Given the description of an element on the screen output the (x, y) to click on. 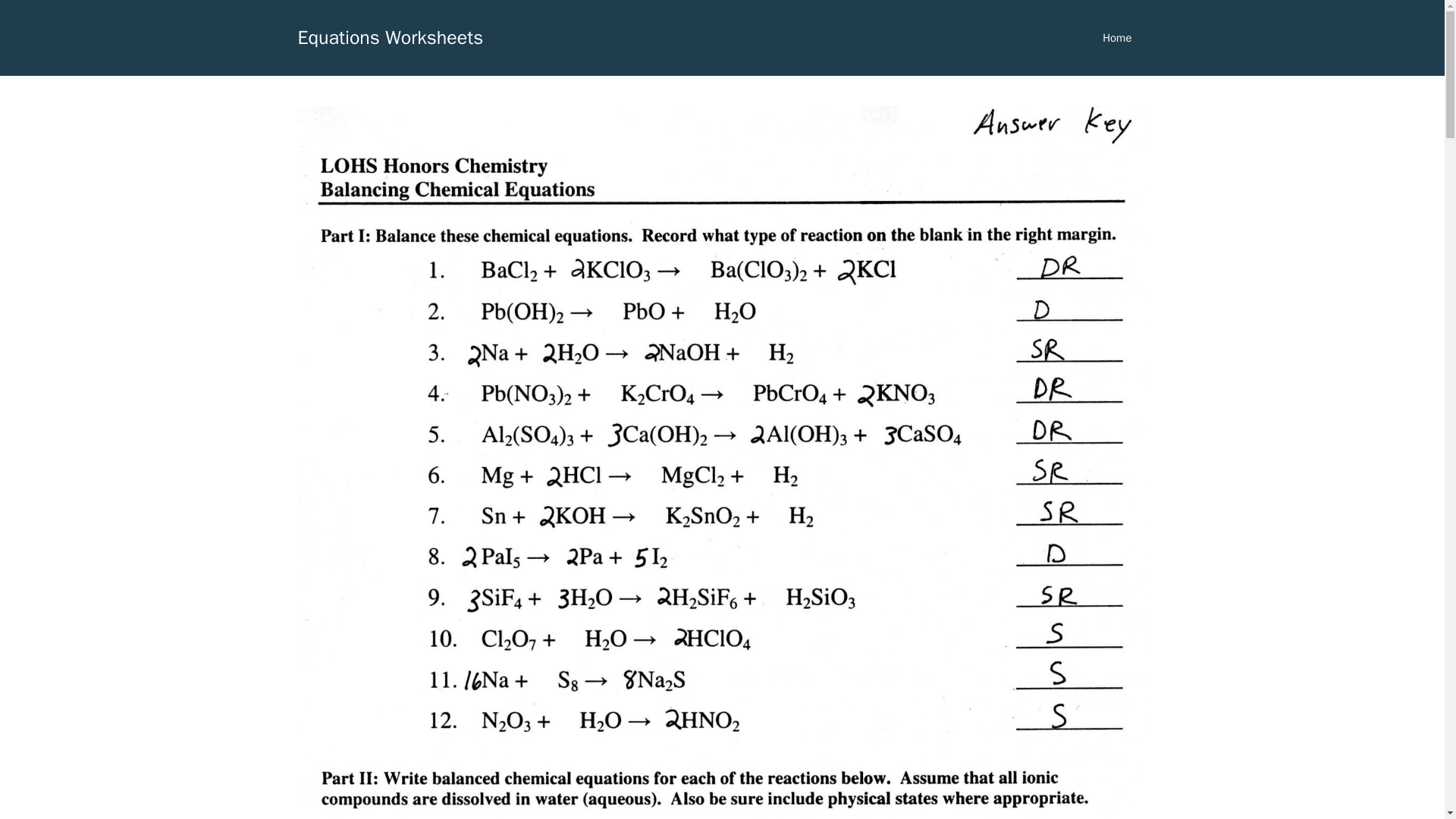
Home (1117, 37)
Equations Worksheets (390, 37)
